Given the description of an element on the screen output the (x, y) to click on. 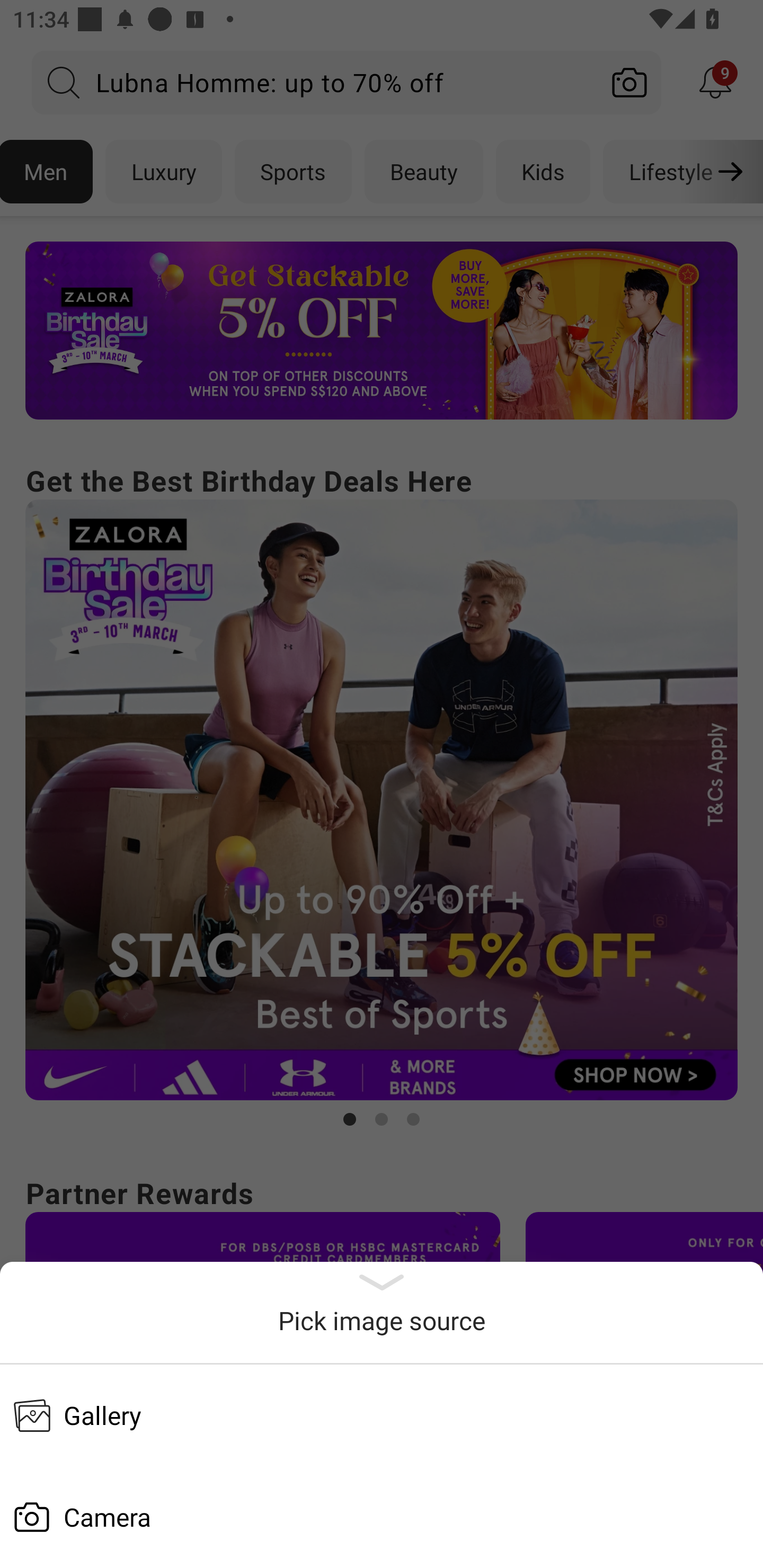
Gallery (381, 1415)
Camera (381, 1517)
